Given the description of an element on the screen output the (x, y) to click on. 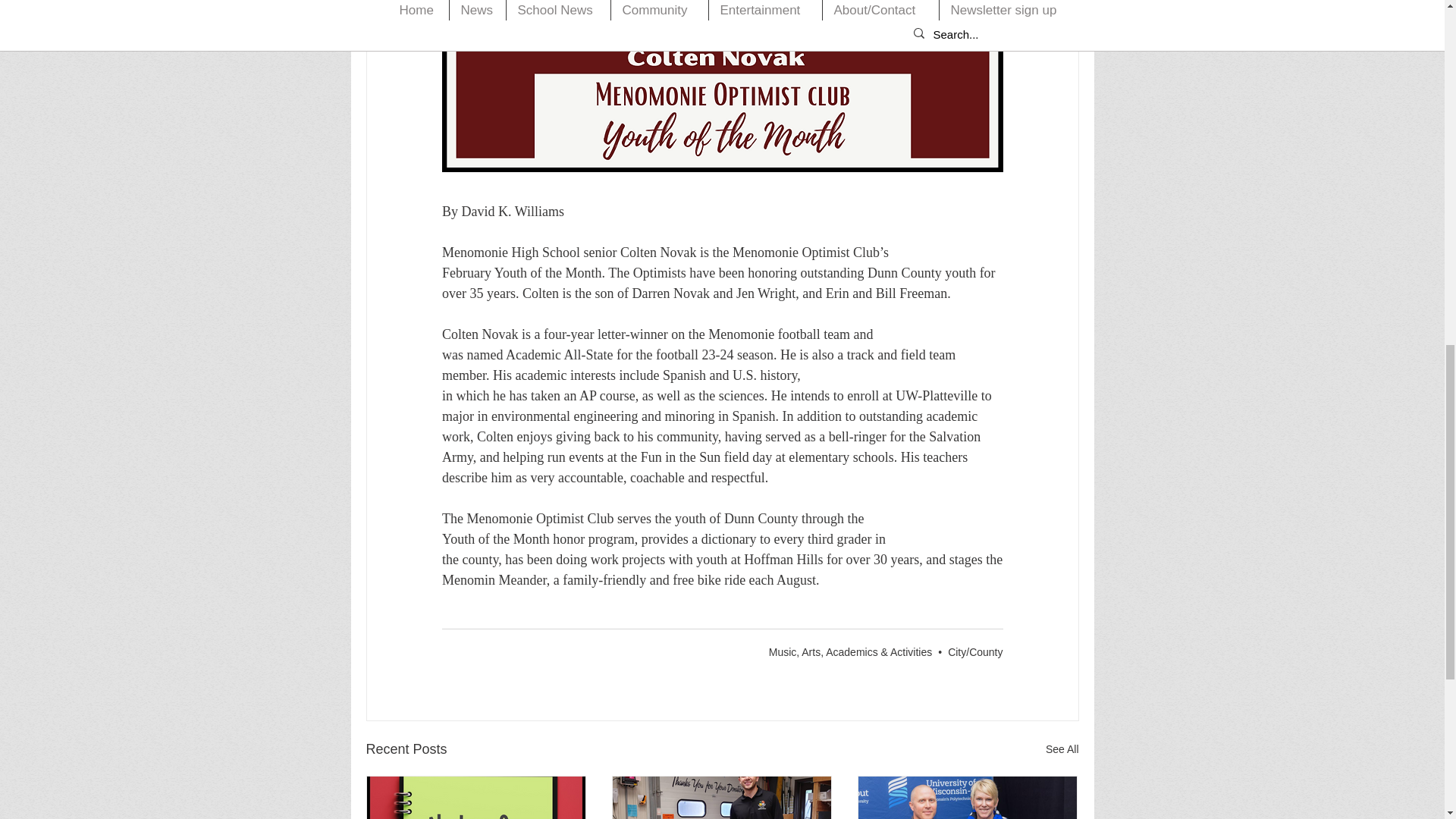
See All (1061, 749)
